Given the description of an element on the screen output the (x, y) to click on. 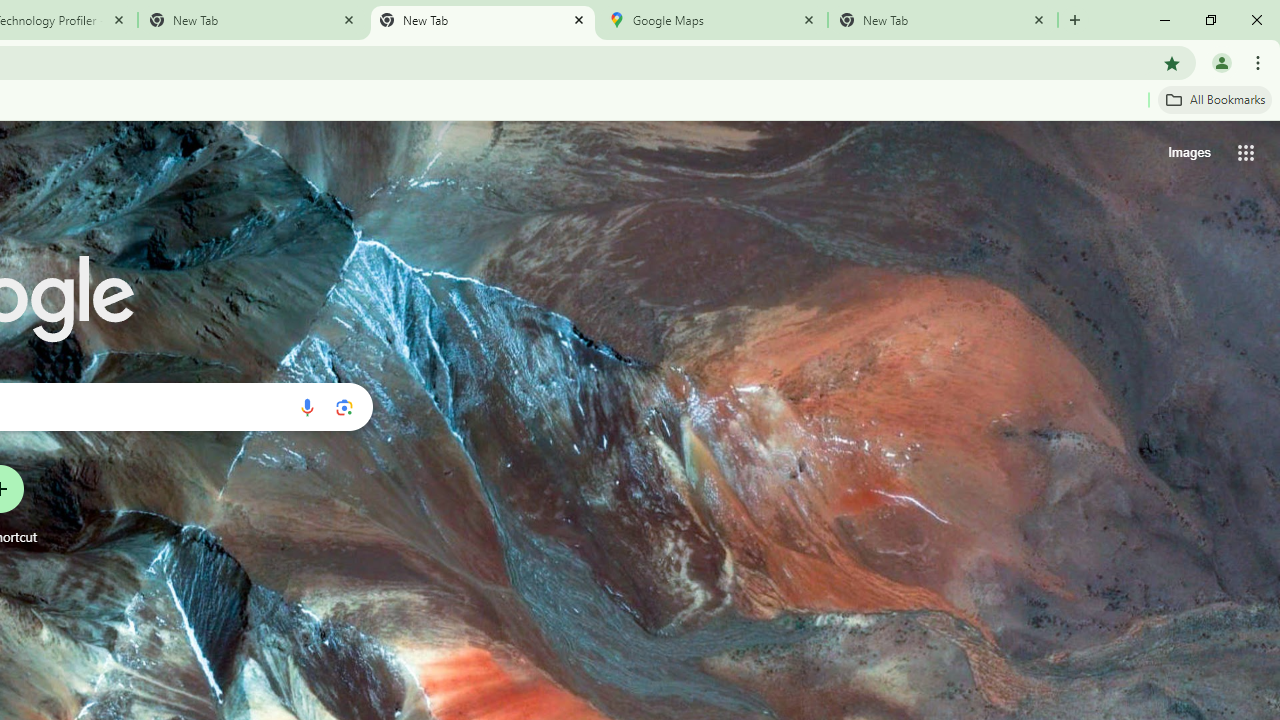
New Tab (482, 20)
New Tab (943, 20)
Google Maps (712, 20)
